Given the description of an element on the screen output the (x, y) to click on. 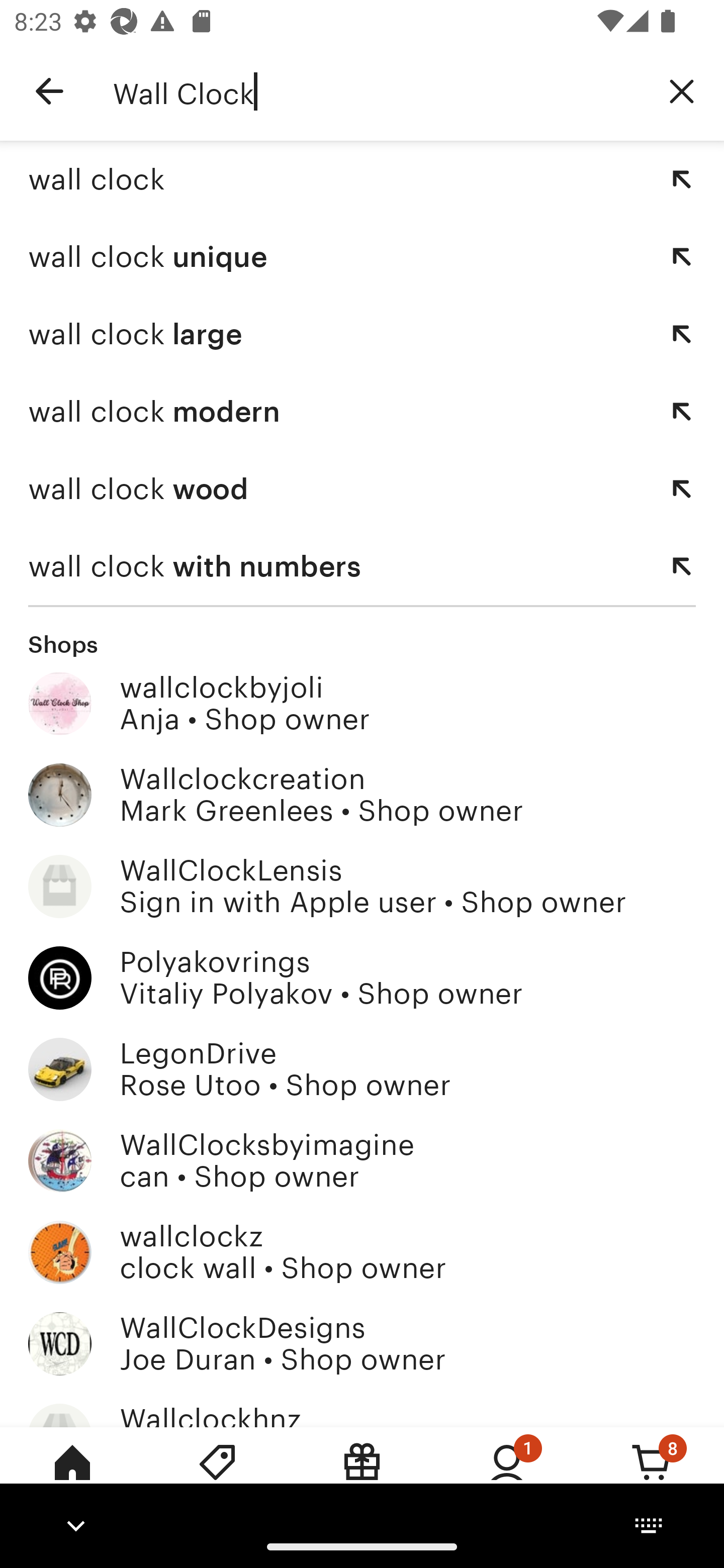
Navigate up (49, 91)
Clear query (681, 90)
Wall Clock (375, 91)
Deals (216, 1475)
Gift Mode (361, 1475)
You, 1 new notification (506, 1475)
Cart, 8 new notifications (651, 1475)
